Given the description of an element on the screen output the (x, y) to click on. 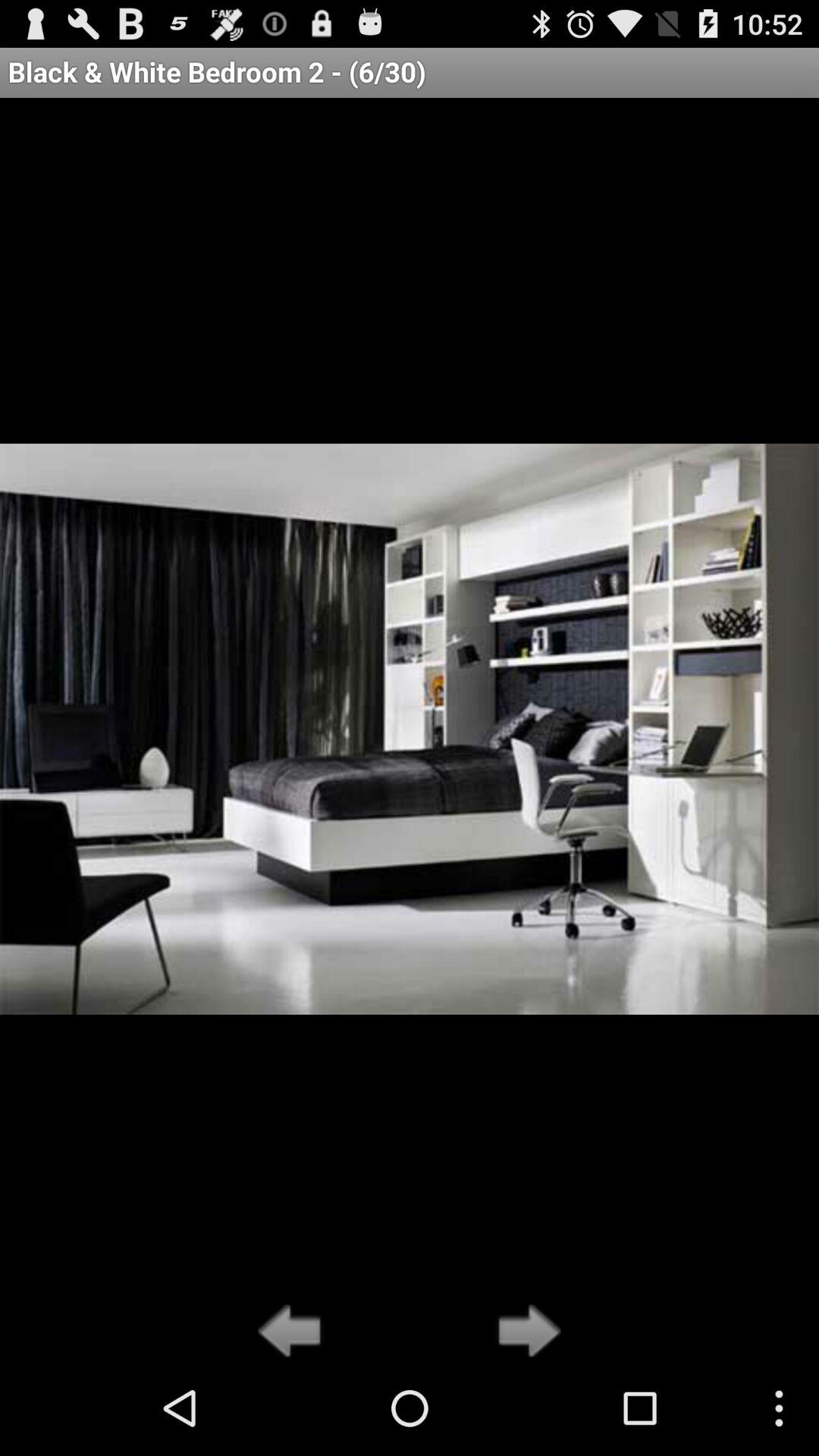
next image (524, 1332)
